Given the description of an element on the screen output the (x, y) to click on. 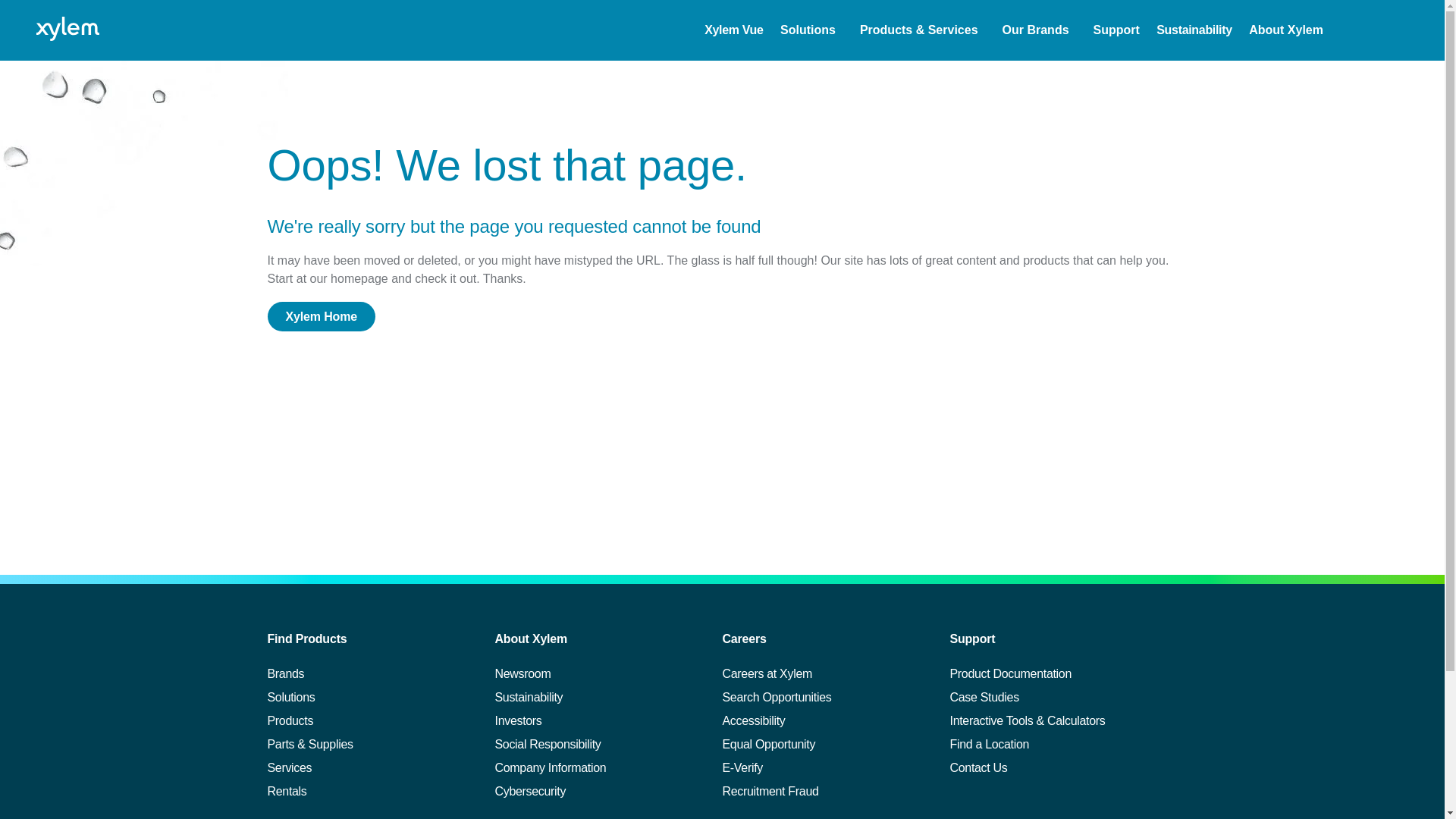
Xylem Vue (734, 30)
Solutions (807, 30)
Xylem Vue (734, 30)
